Given the description of an element on the screen output the (x, y) to click on. 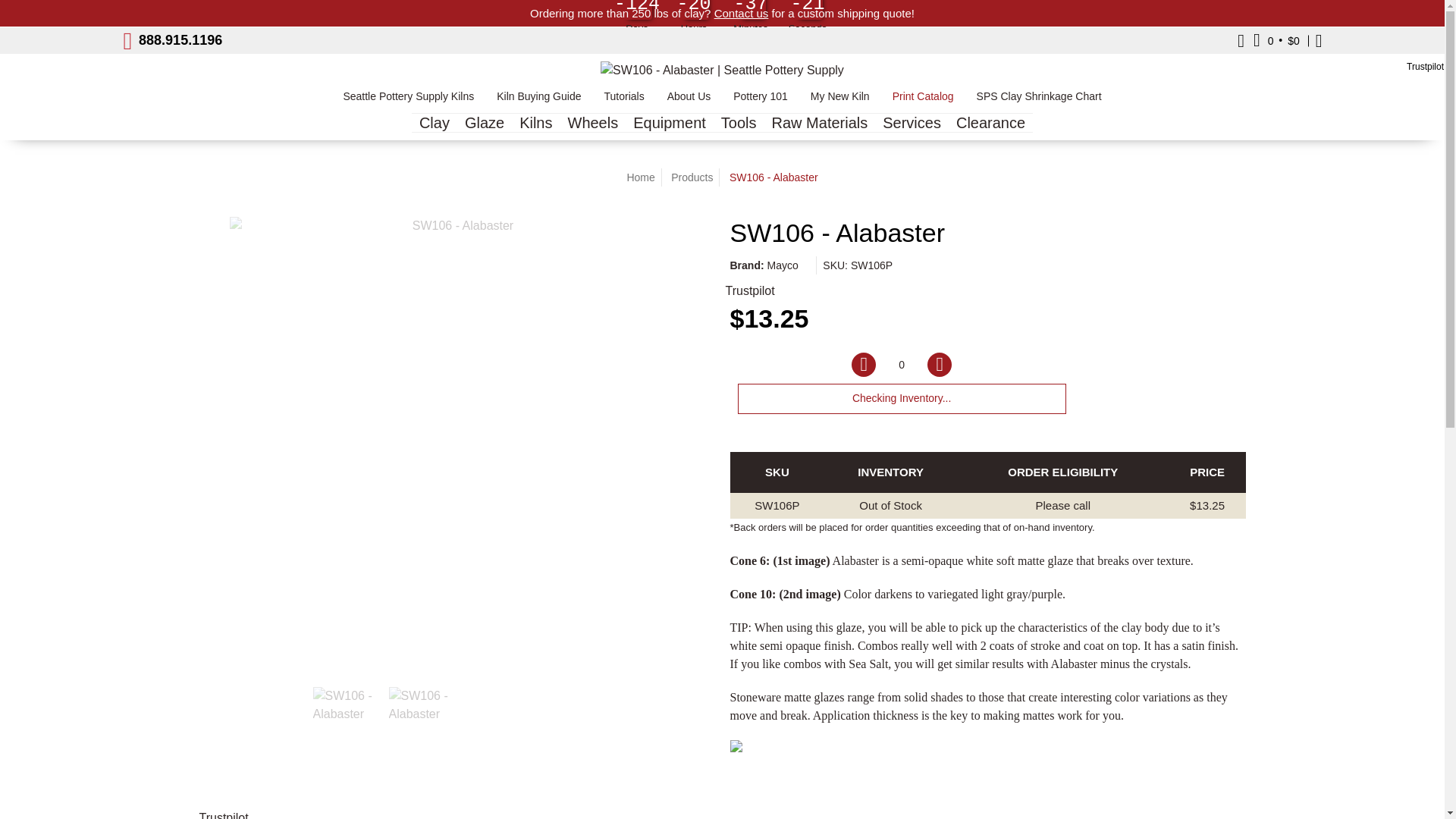
Tutorials (623, 99)
Clay (434, 122)
0 (901, 364)
Pottery 101 (760, 99)
Seattle Pottery Supply Kilns (407, 99)
Trustpilot (1425, 66)
Seattle Pottery Supply (721, 70)
Checking Inventory... (900, 399)
Clay (434, 122)
SPS Clay Shrinkage Chart (1039, 99)
